Given the description of an element on the screen output the (x, y) to click on. 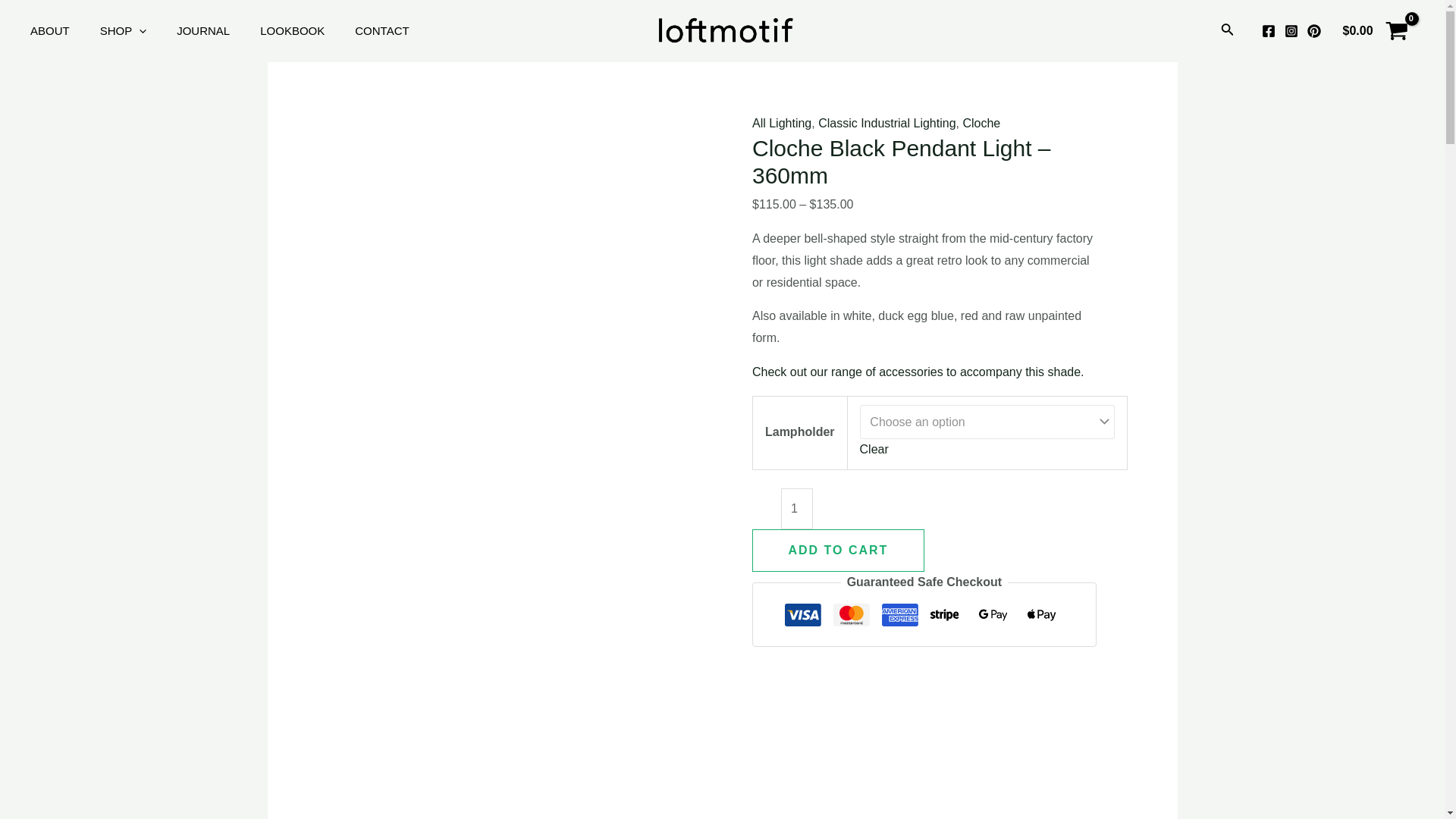
LOOKBOOK (307, 30)
CONTACT (397, 30)
SHOP (138, 30)
JOURNAL (218, 30)
ABOUT (65, 30)
